Given the description of an element on the screen output the (x, y) to click on. 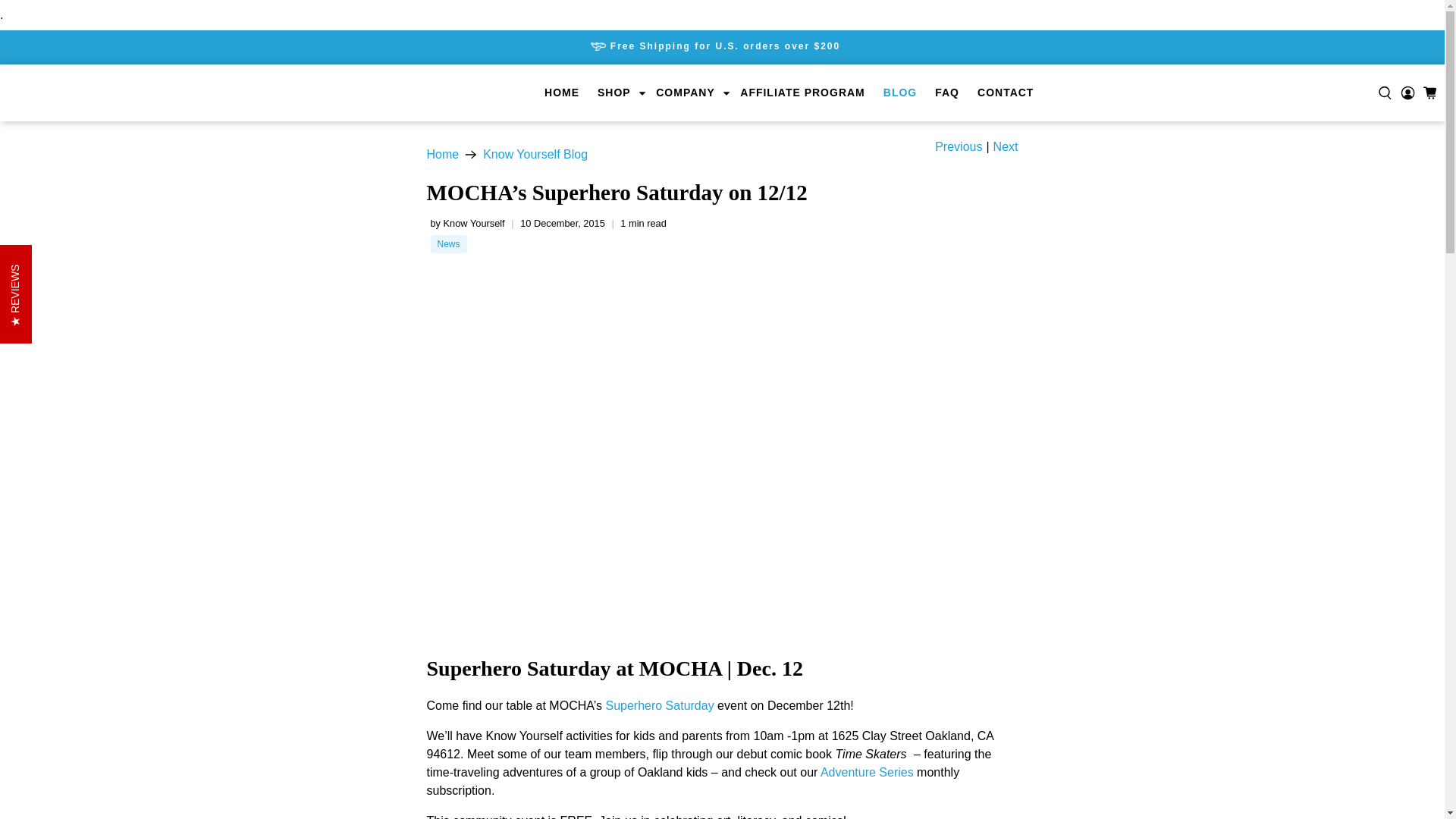
Know Yourself Blog (535, 154)
Know Yourself Blog tagged News (448, 243)
FAQ (947, 92)
Next (1004, 146)
CONTACT (1005, 92)
BLOG (900, 92)
Know Yourself (105, 92)
Previous (957, 146)
COMPANY   (688, 92)
Know Yourself (442, 154)
HOME (561, 92)
SHOP   (617, 92)
AFFILIATE PROGRAM (802, 92)
